Given the description of an element on the screen output the (x, y) to click on. 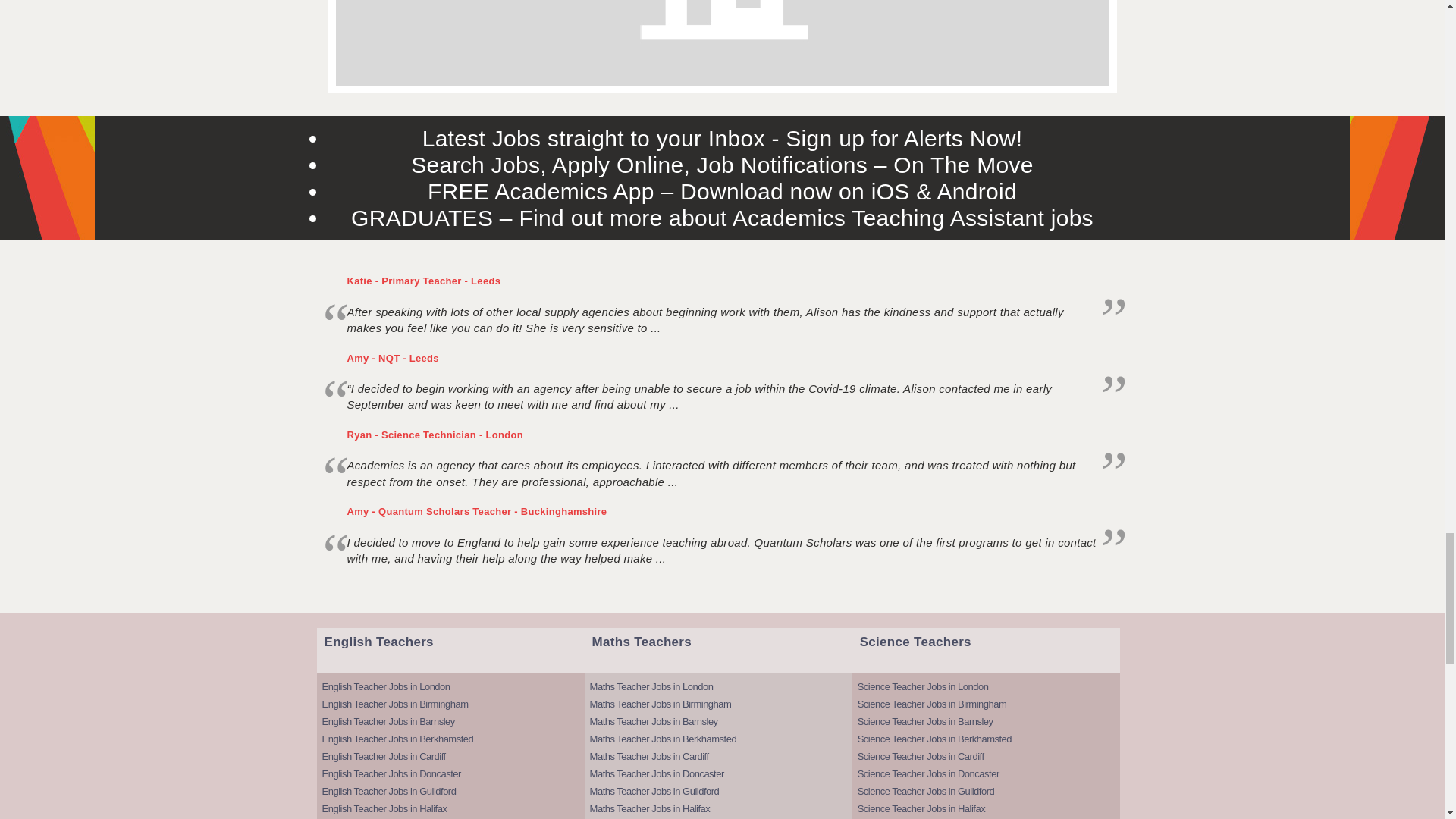
Berkhamsted Office (721, 42)
Katie - Primary Teacher - Leeds (423, 280)
Ryan - Science Technician - London (434, 434)
Amy - Quantum Scholars Teacher - Buckinghamshire (477, 511)
Amy - NQT - Leeds (393, 357)
